Given the description of an element on the screen output the (x, y) to click on. 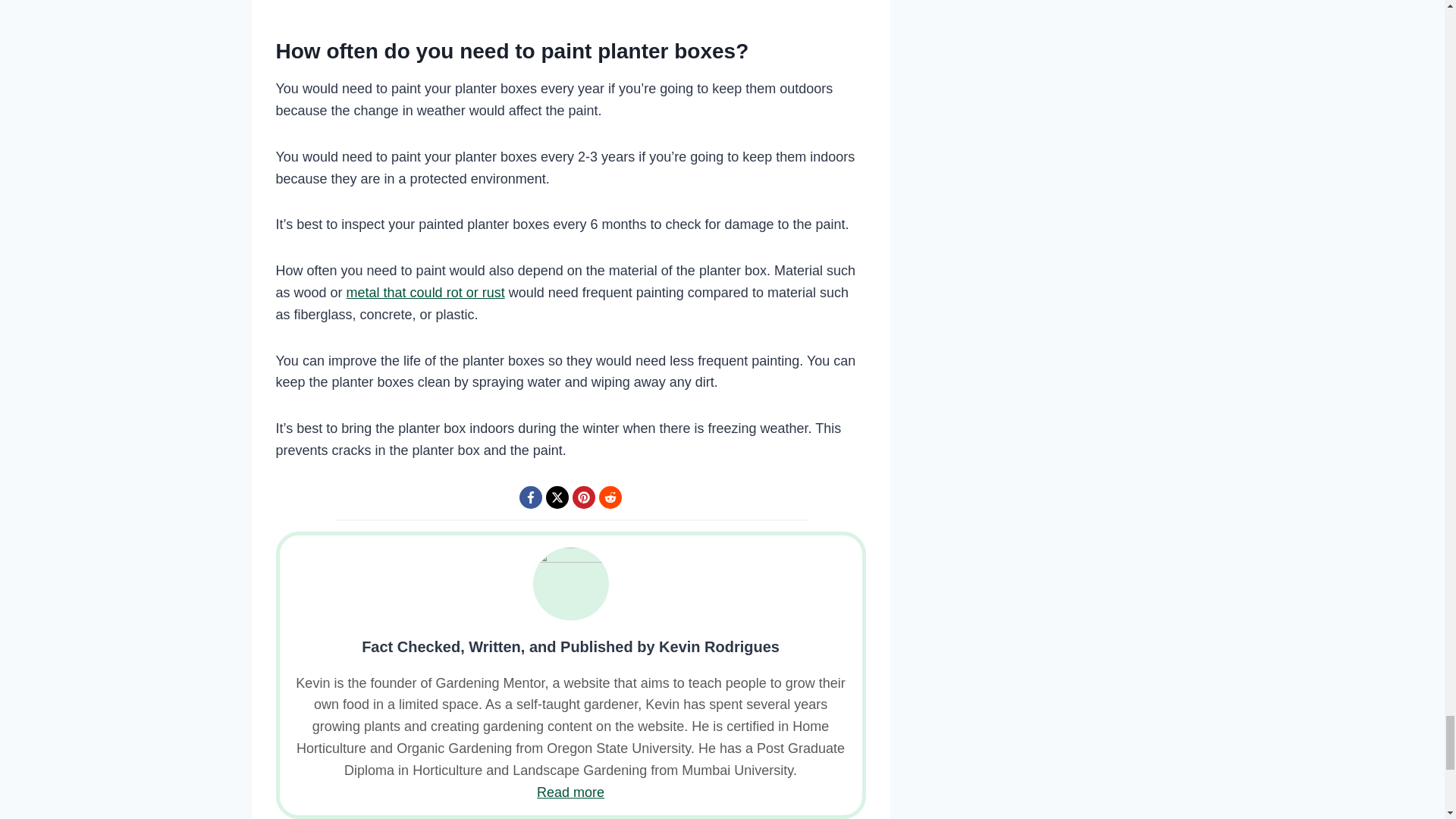
Is Metal Rust Bad For Plants? (425, 292)
Read more (570, 792)
metal that could rot or rust (425, 292)
